Given the description of an element on the screen output the (x, y) to click on. 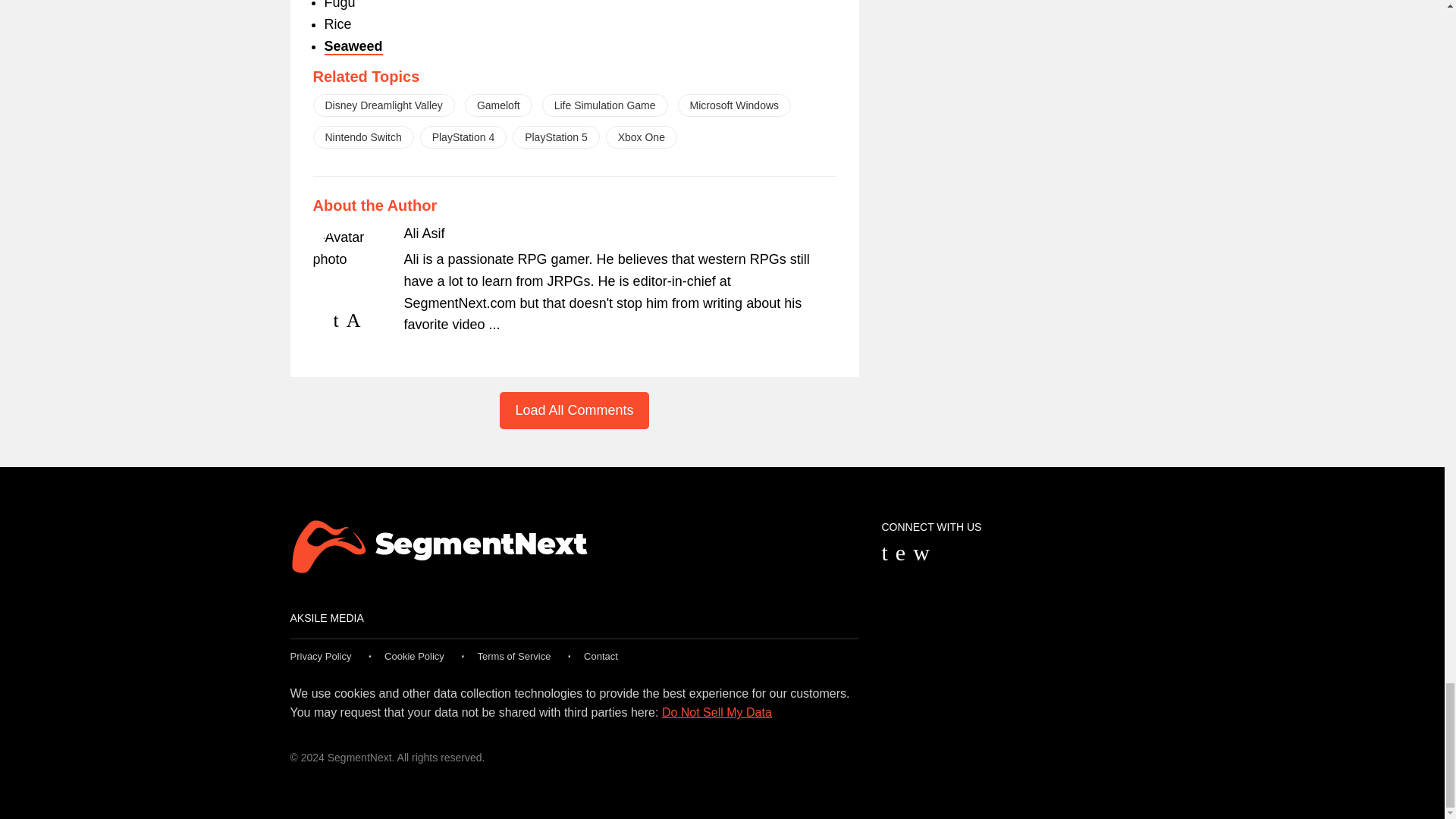
Ali Asif (423, 233)
PlayStation 4 (463, 137)
Gameloft (498, 105)
Nintendo Switch (363, 137)
Disney Dreamlight Valley (383, 105)
Microsoft Windows (734, 105)
Seaweed (353, 46)
Life Simulation Game (604, 105)
